Given the description of an element on the screen output the (x, y) to click on. 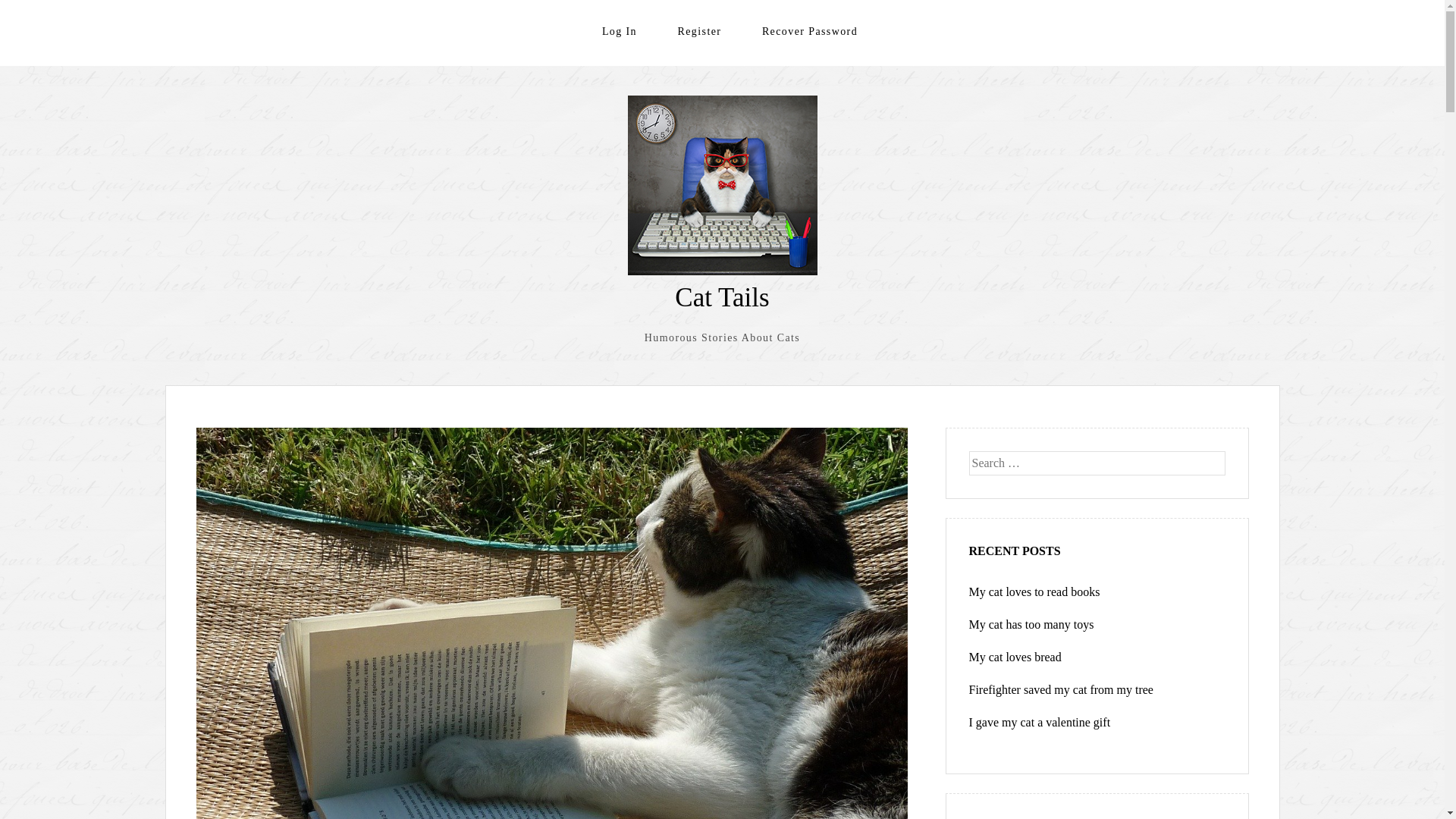
My cat loves bread Element type: text (1015, 656)
Register Element type: text (699, 31)
I gave my cat a valentine gift Element type: text (1039, 721)
Cat Tails Element type: text (721, 297)
Search Element type: text (29, 14)
Log In Element type: text (619, 31)
Firefighter saved my cat from my tree Element type: text (1061, 689)
My cat has too many toys Element type: text (1031, 624)
Recover Password Element type: text (809, 31)
My cat loves to read books Element type: text (1034, 591)
